Given the description of an element on the screen output the (x, y) to click on. 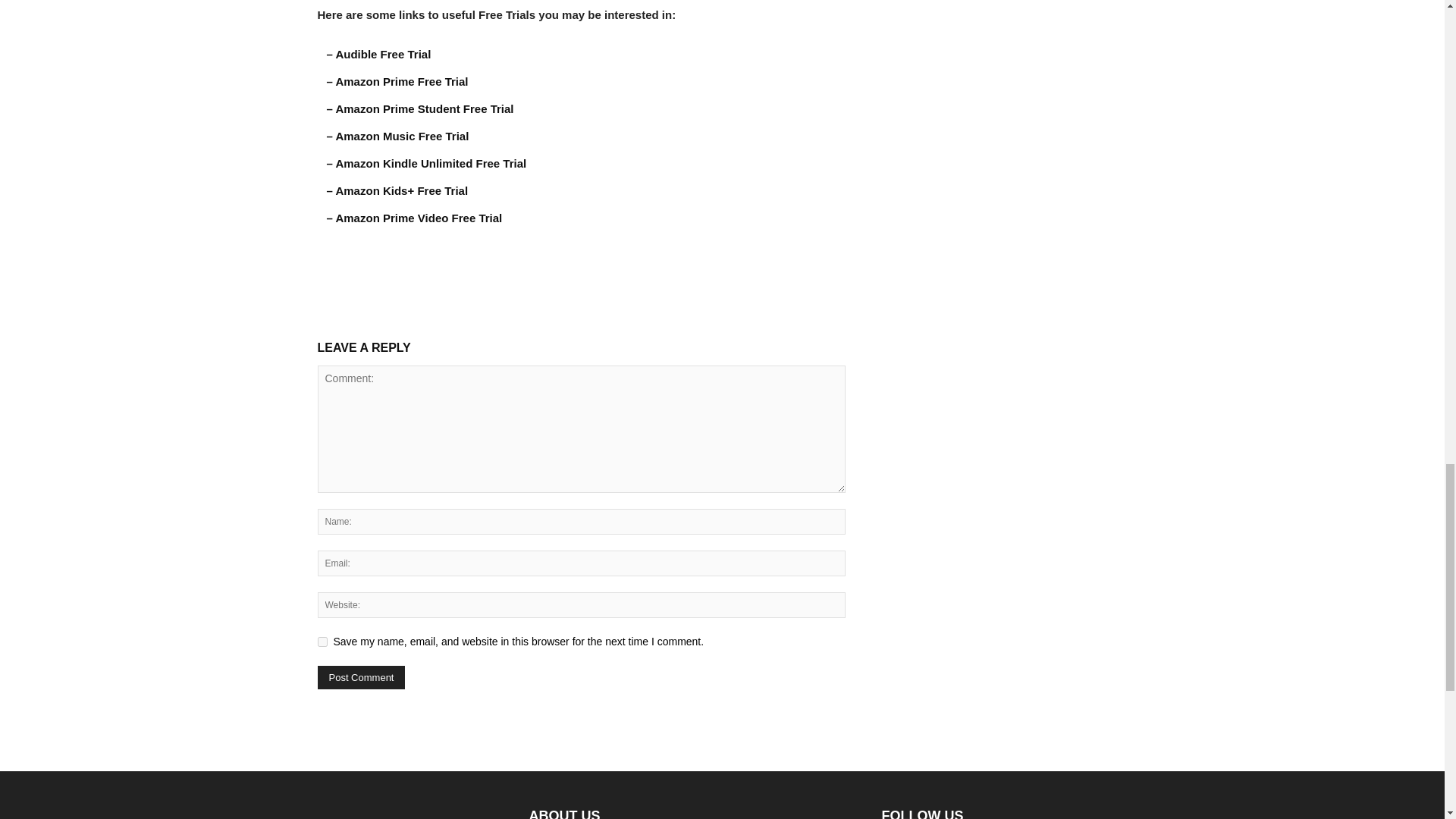
Post Comment (360, 677)
yes (321, 642)
